Given the description of an element on the screen output the (x, y) to click on. 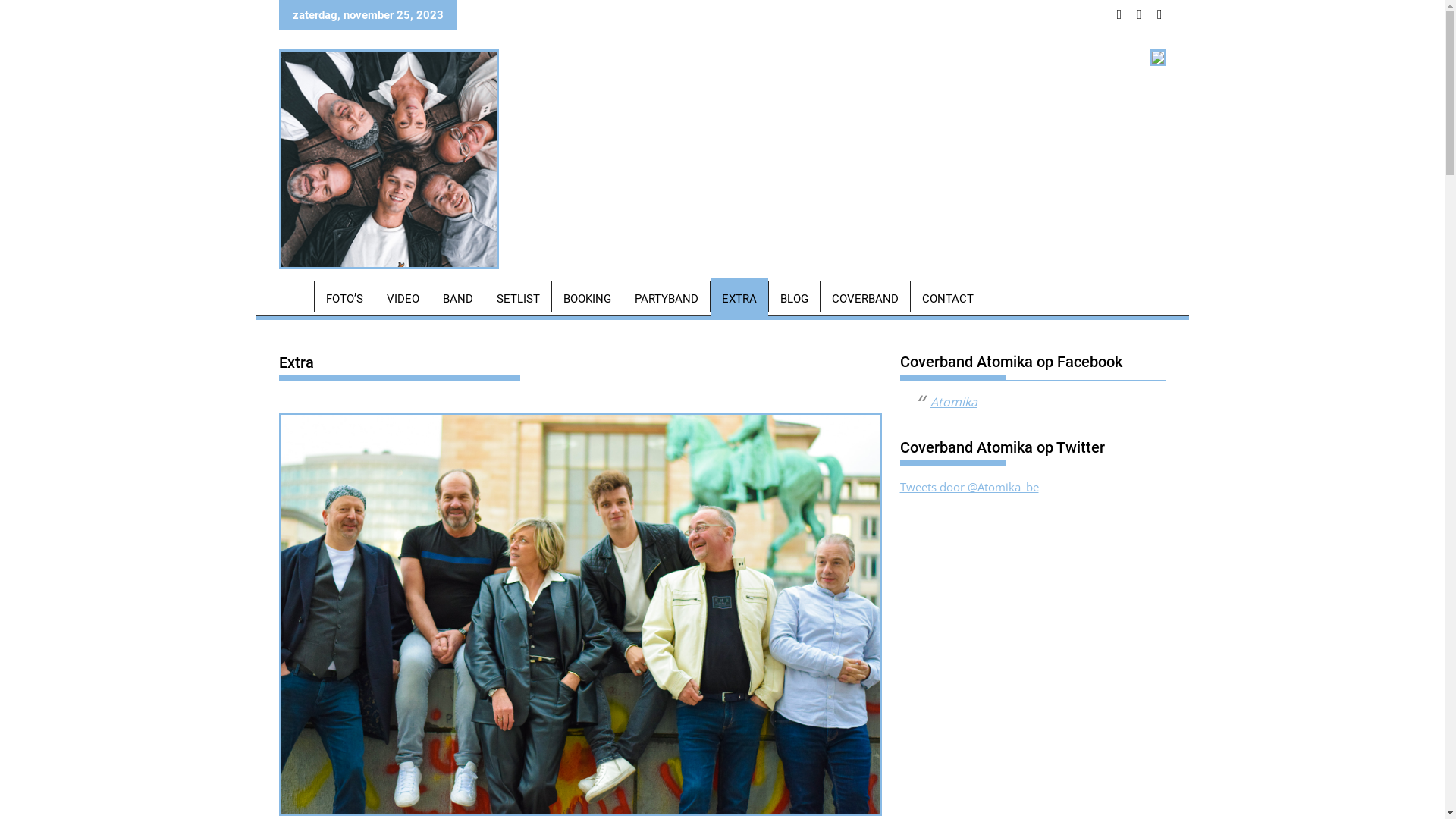
SETLIST Element type: text (518, 298)
BOOKING Element type: text (587, 298)
VIDEO Element type: text (401, 298)
COVERBAND Element type: text (865, 298)
Tweets door @Atomika_be Element type: text (968, 486)
Atomika Element type: text (952, 401)
PARTYBAND Element type: text (666, 298)
BLOG Element type: text (793, 298)
BAND Element type: text (456, 298)
CONTACT Element type: text (947, 298)
EXTRA Element type: text (738, 298)
Atomika Element type: hover (293, 295)
